Given the description of an element on the screen output the (x, y) to click on. 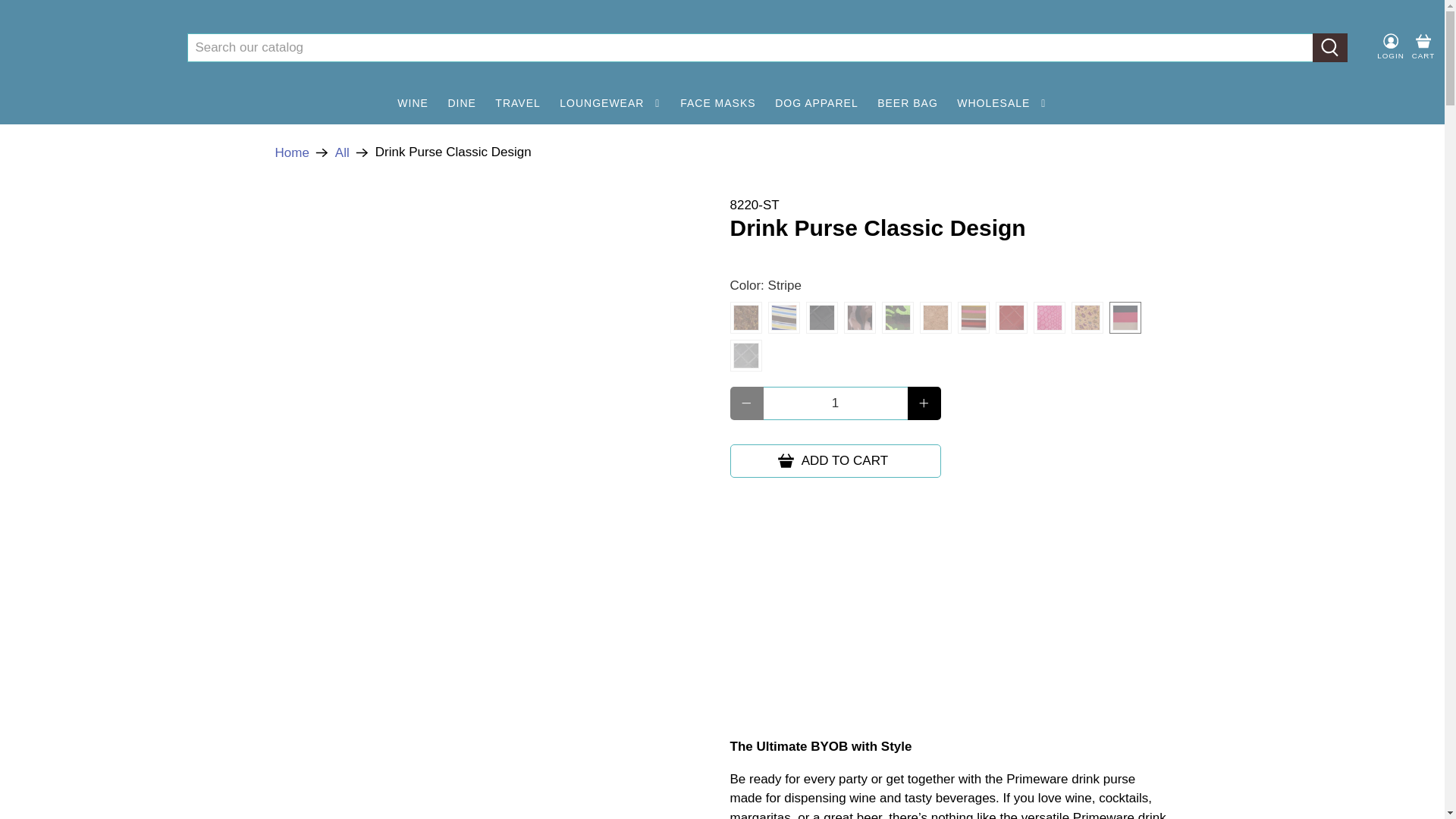
BEER BAG (907, 103)
TRAVEL (518, 103)
Primeware Inc. (85, 47)
LOUNGEWEAR (610, 103)
1 (834, 403)
YouTube video player (941, 612)
DINE (462, 103)
DOG APPAREL (816, 103)
Primeware Inc. (291, 151)
FACE MASKS (717, 103)
